Given the description of an element on the screen output the (x, y) to click on. 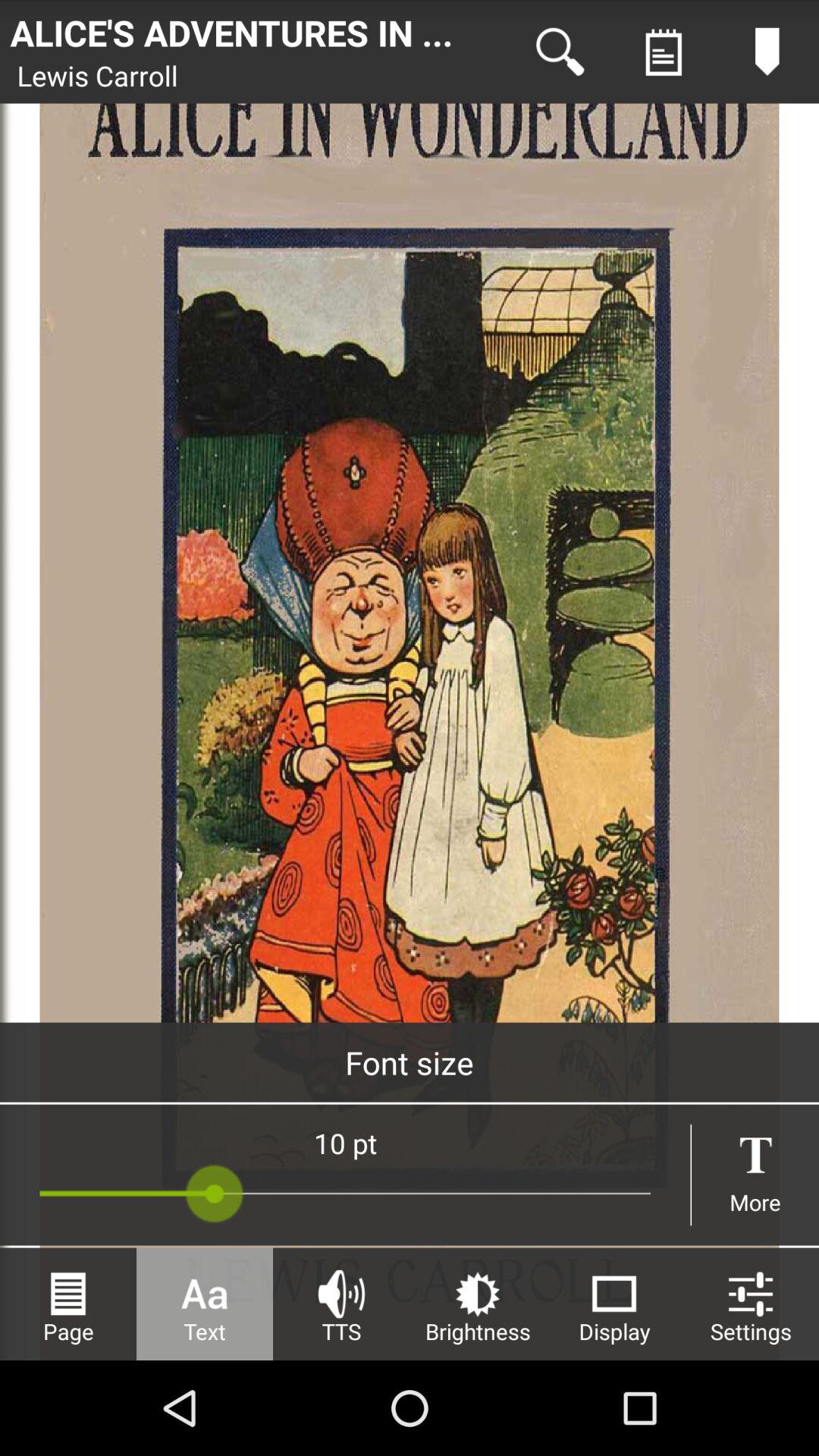
go to file (663, 51)
